Given the description of an element on the screen output the (x, y) to click on. 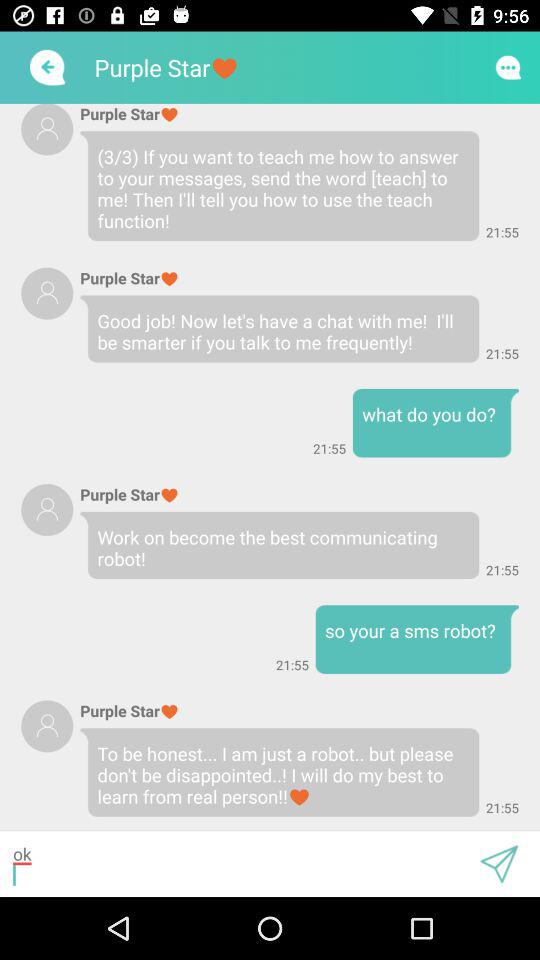
attachment and map option (499, 864)
